Given the description of an element on the screen output the (x, y) to click on. 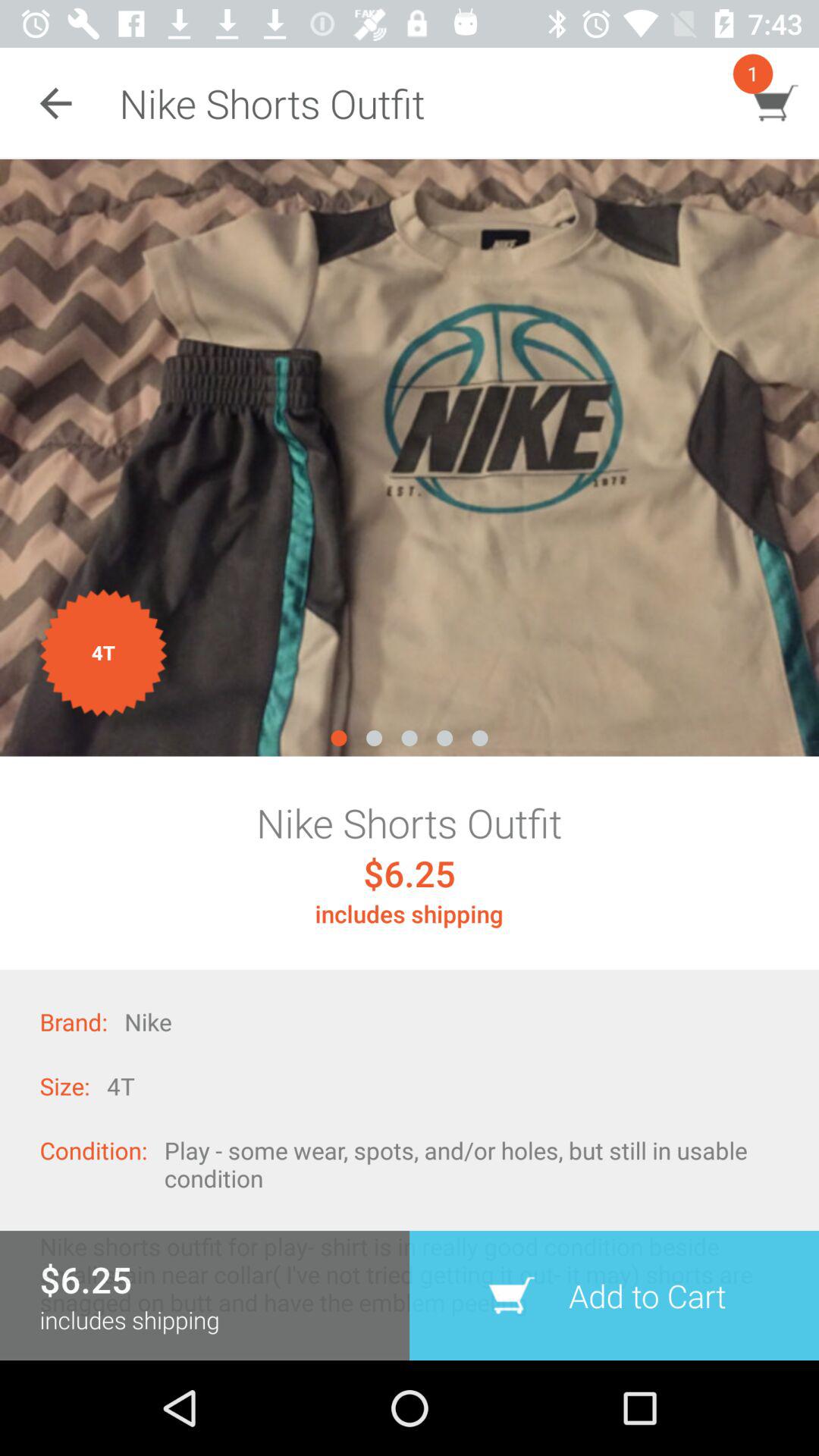
turn off the icon below the play some wear (614, 1295)
